Given the description of an element on the screen output the (x, y) to click on. 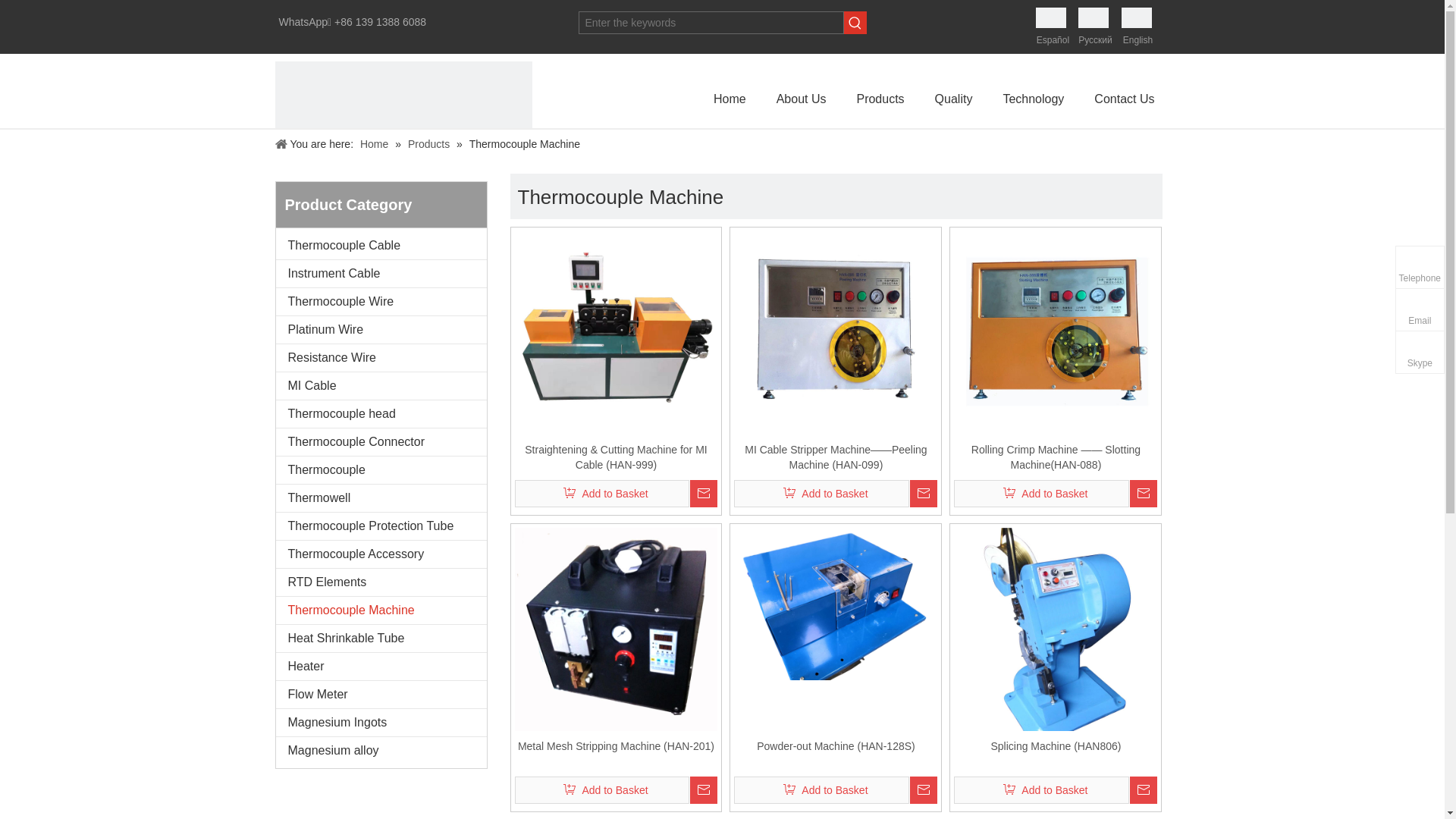
xuzhuchen Element type: text (1352, 356)
micc@micc.cc Element type: text (1318, 321)
Products Element type: text (429, 144)
RTD Elements Element type: text (381, 582)
 Add to Basket Element type: text (821, 493)
MICC TECH LIMITED Element type: hover (402, 189)
  Element type: text (923, 789)
Products Element type: text (879, 99)
Home Element type: text (729, 99)
Telephone Element type: text (1419, 266)
  Element type: text (703, 789)
Contact Us Element type: text (1124, 99)
 Add to Basket Element type: text (1041, 493)
Thermocouple Protection Tube Element type: text (381, 525)
Quality Element type: text (953, 99)
+86 13913886088 Element type: text (1335, 279)
Magnesium Ingots Element type: text (381, 722)
  Element type: text (1143, 493)
 Add to Basket Element type: text (1041, 789)
Metal Mesh Stripping Machine (HAN-201) Element type: text (615, 753)
Thermocouple Element type: text (381, 469)
Thermowell Element type: text (381, 497)
Flow Meter Element type: text (381, 694)
Skype Element type: text (1419, 351)
  Element type: text (923, 493)
Thermocouple head Element type: text (381, 413)
Home Element type: text (375, 144)
Heater Element type: text (381, 666)
About Us Element type: text (801, 99)
Email Element type: text (1419, 309)
Instrument Cable Element type: text (381, 273)
Thermocouple Cable Element type: text (381, 245)
Platinum Wire Element type: text (381, 329)
Technology Element type: text (1033, 99)
Splicing Machine (HAN806) Element type: text (1055, 753)
Straightening & Cutting Machine for MI Cable (HAN-999) Element type: text (615, 457)
Thermocouple Machine Element type: text (381, 610)
Powder-out Machine (HAN-128S) Element type: text (835, 753)
 Add to Basket Element type: text (601, 493)
English Element type: text (1137, 27)
Magnesium alloy Element type: text (381, 750)
Heat Shrinkable Tube Element type: text (381, 638)
 Add to Basket Element type: text (821, 789)
  Element type: text (1143, 789)
 Add to Basket Element type: text (601, 789)
Resistance Wire Element type: text (381, 357)
  Element type: text (703, 493)
Thermocouple Wire Element type: text (381, 301)
Thermocouple Accessory Element type: text (381, 553)
MI Cable Element type: text (381, 385)
Thermocouple Connector Element type: text (381, 441)
